Given the description of an element on the screen output the (x, y) to click on. 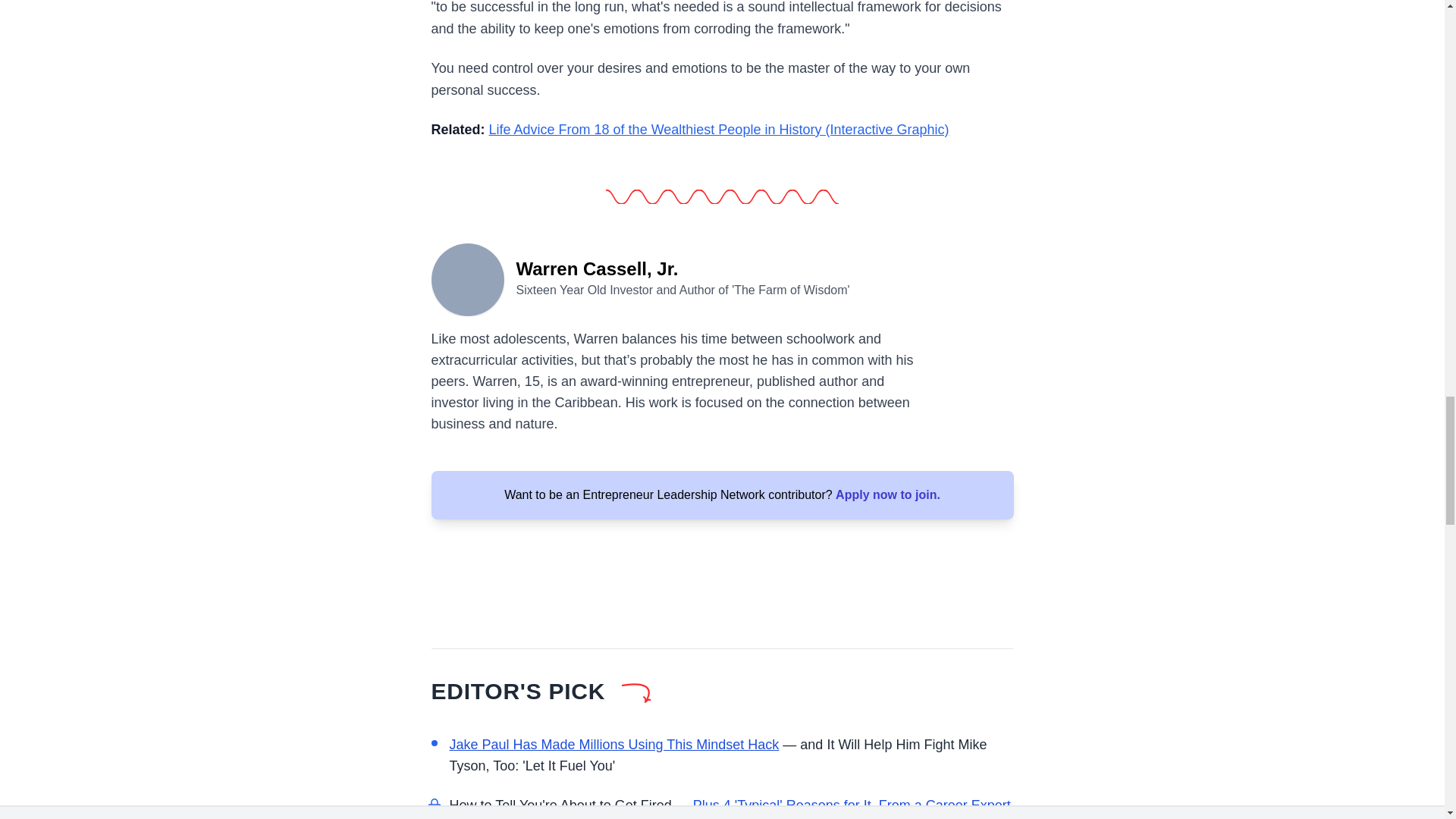
Warren Cassell, Jr. (466, 278)
